Given the description of an element on the screen output the (x, y) to click on. 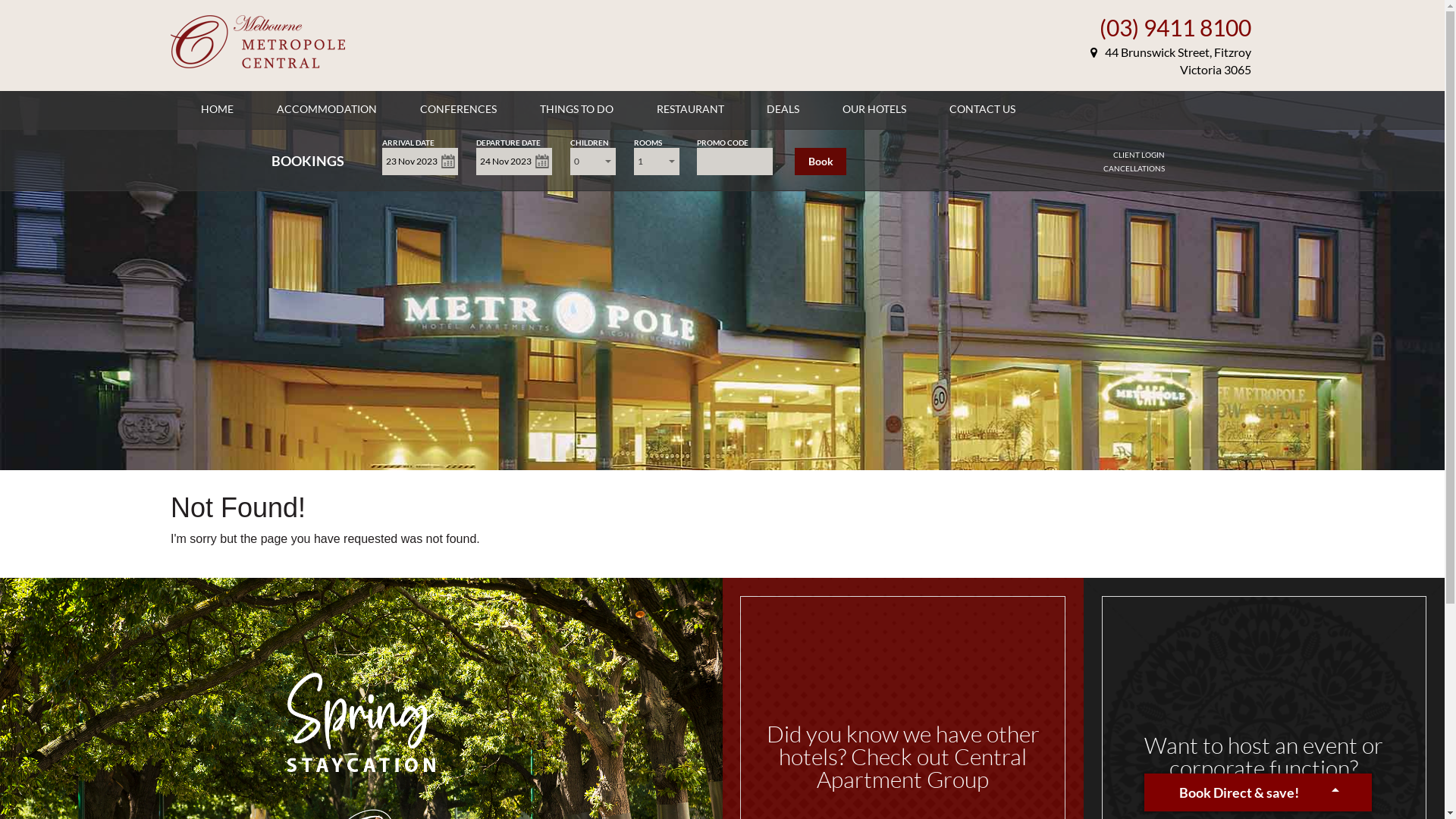
CONFERENCES Element type: text (458, 109)
44 Brunswick Street, Fitzroy
Victoria 3065 Element type: text (1170, 60)
Book Element type: text (820, 161)
ACCOMMODATION Element type: text (326, 109)
OUR HOTELS Element type: text (874, 109)
HOME Element type: text (216, 109)
CONTACT US Element type: text (982, 109)
(03) 9411 8100 Element type: text (1175, 26)
DEALS Element type: text (782, 109)
CLIENT LOGIN Element type: text (1138, 154)
RESTAURANT Element type: text (690, 109)
CANCELLATIONS Element type: text (1133, 167)
THINGS TO DO Element type: text (576, 109)
